Given the description of an element on the screen output the (x, y) to click on. 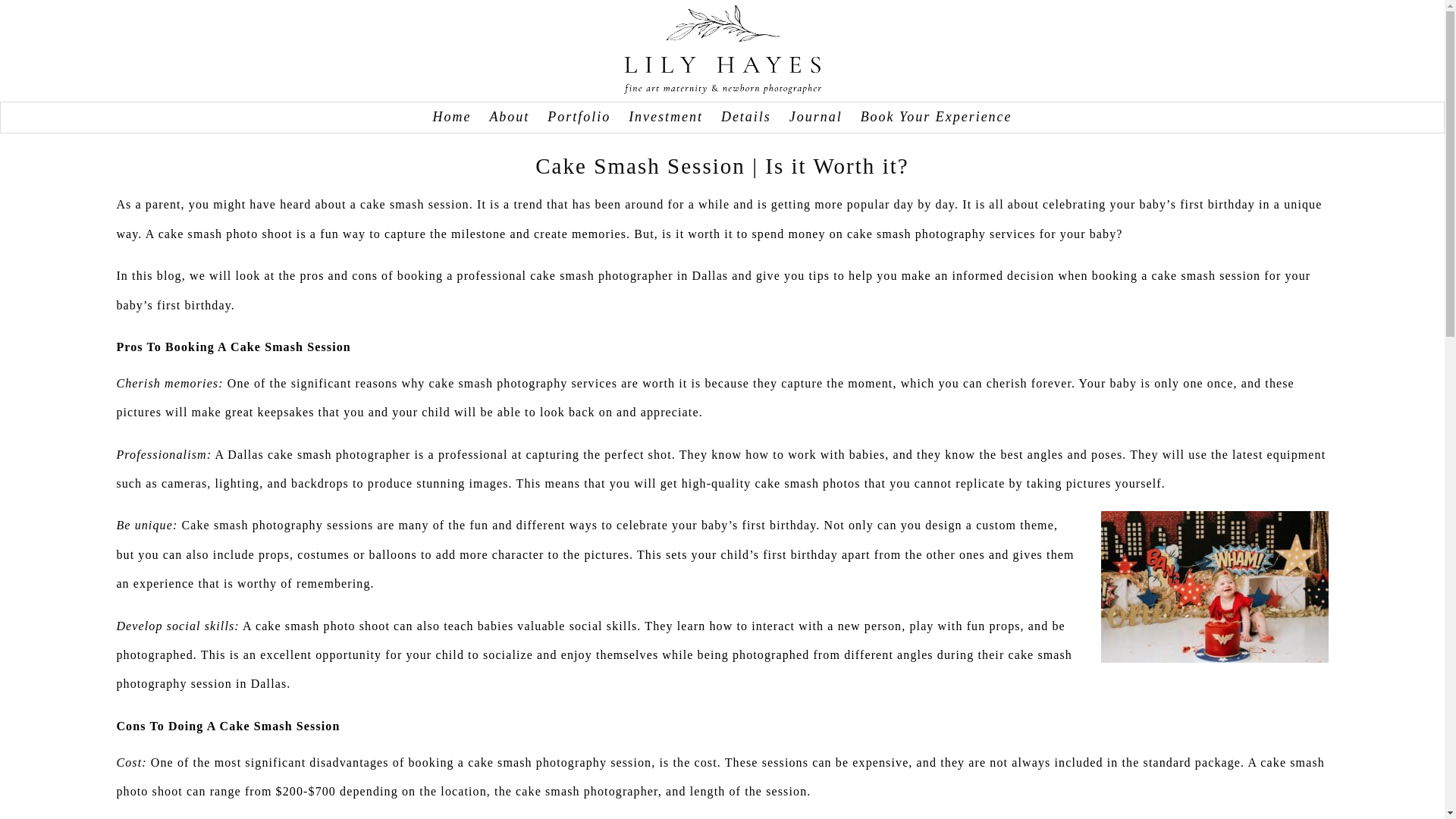
Investment (665, 116)
About (509, 116)
Portfolio (578, 116)
Details (745, 116)
Journal (816, 116)
Home (451, 116)
Book Your Experience (935, 116)
